Given the description of an element on the screen output the (x, y) to click on. 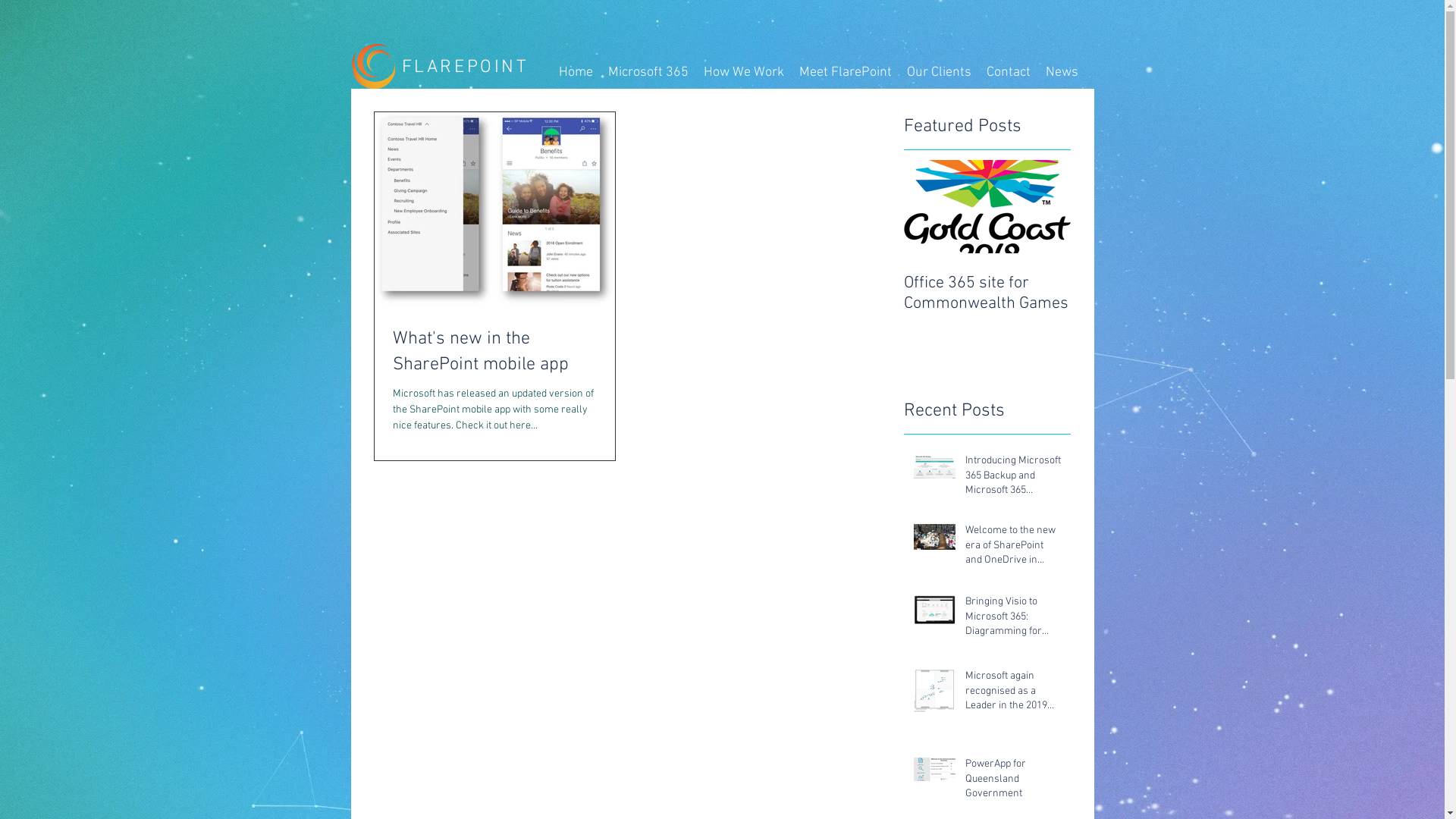
How We Work Element type: text (743, 72)
Our Clients Element type: text (939, 72)
FLAREPOINT Element type: text (465, 67)
Home Element type: text (574, 72)
Office 365 site for Commonwealth Games Element type: text (986, 293)
PowerApp for Queensland Government Element type: text (1012, 781)
Contact Element type: text (1007, 72)
Introducing Microsoft 365 Backup and Microsoft 365 Archive Element type: text (1012, 478)
Bringing Visio to Microsoft 365: Diagramming for everyone Element type: text (1012, 619)
Microsoft 365 Element type: text (648, 72)
News Element type: text (1061, 72)
What's new in the SharePoint mobile app Element type: text (494, 351)
Meet FlarePoint Element type: text (845, 72)
